Given the description of an element on the screen output the (x, y) to click on. 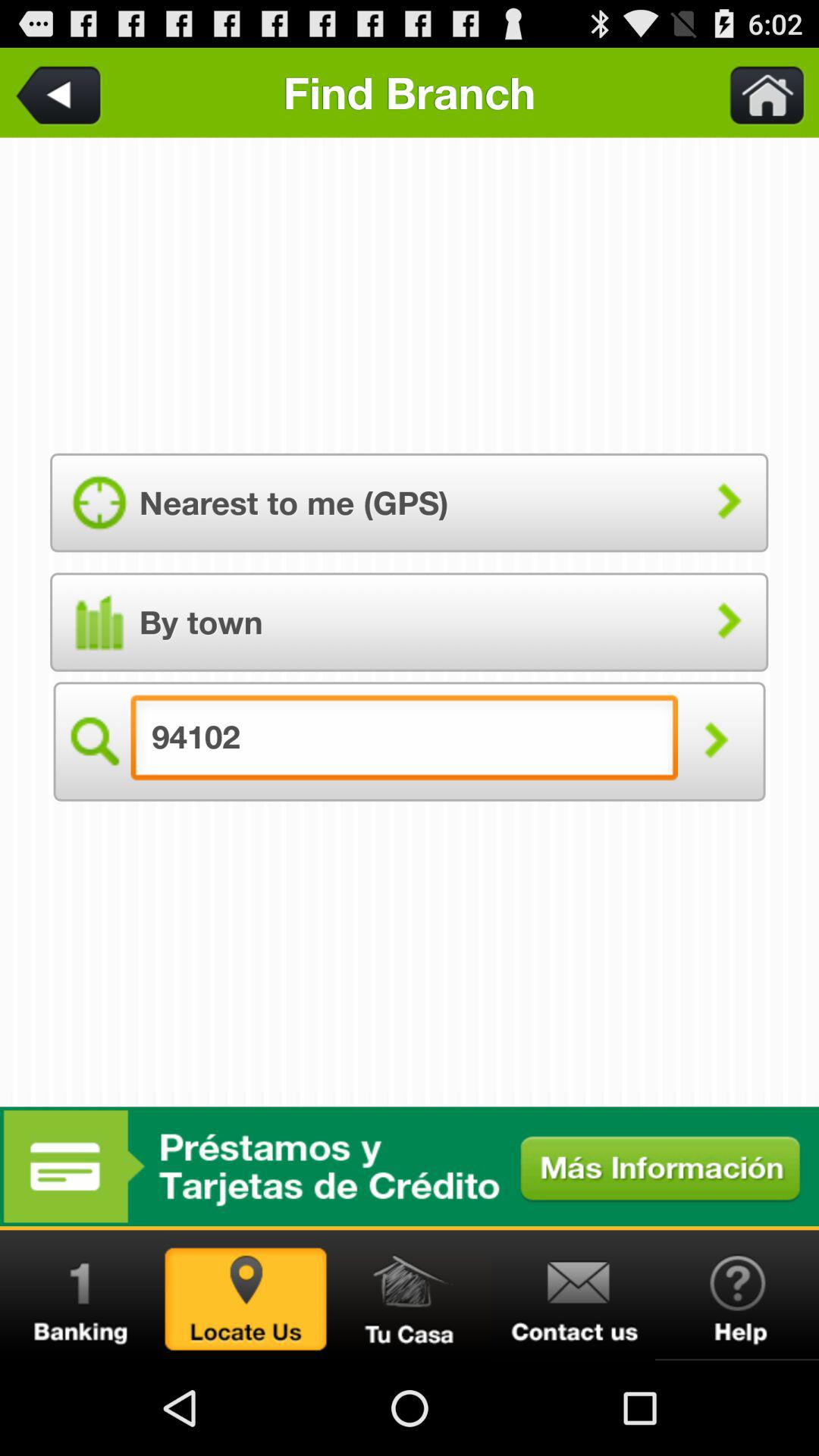
show on map (245, 1295)
